Given the description of an element on the screen output the (x, y) to click on. 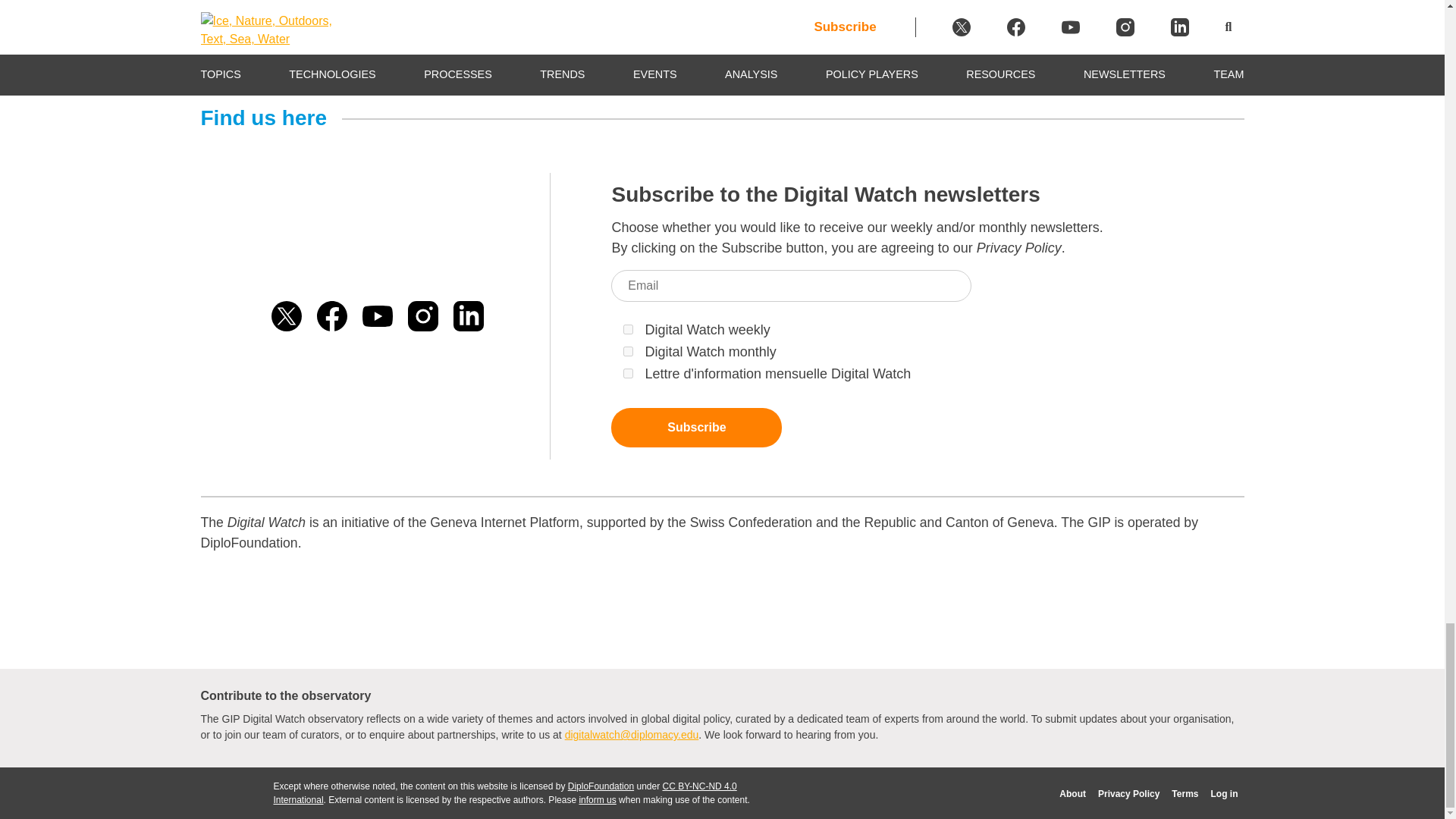
3688bacdf5 (628, 329)
9e69e45f01 (628, 351)
15abf6e35b (628, 373)
